Given the description of an element on the screen output the (x, y) to click on. 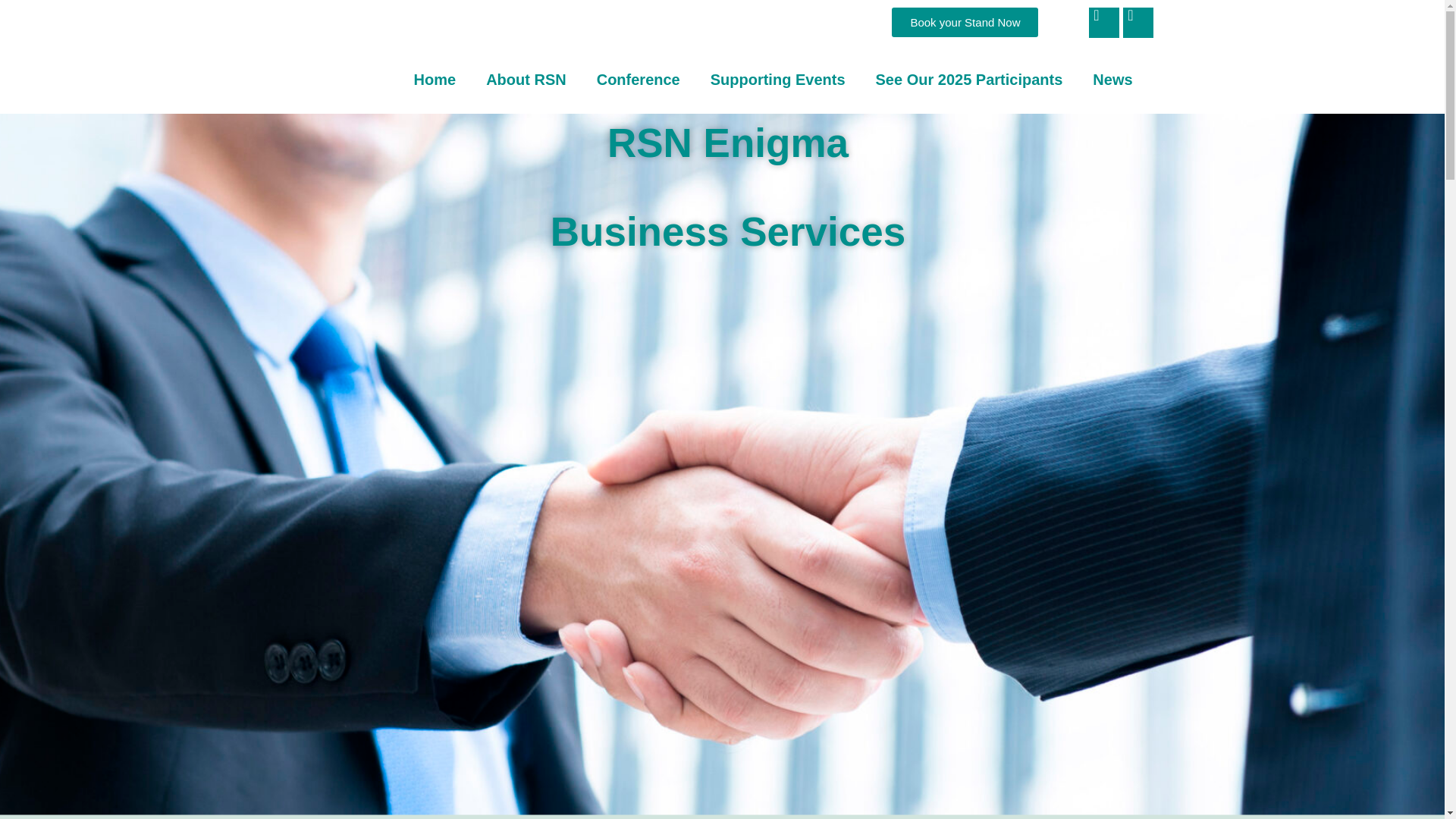
Conference (637, 79)
See Our 2025 Participants (969, 79)
Home (434, 79)
News (1112, 79)
Supporting Events (777, 79)
About RSN (525, 79)
Book your Stand Now (964, 21)
